Given the description of an element on the screen output the (x, y) to click on. 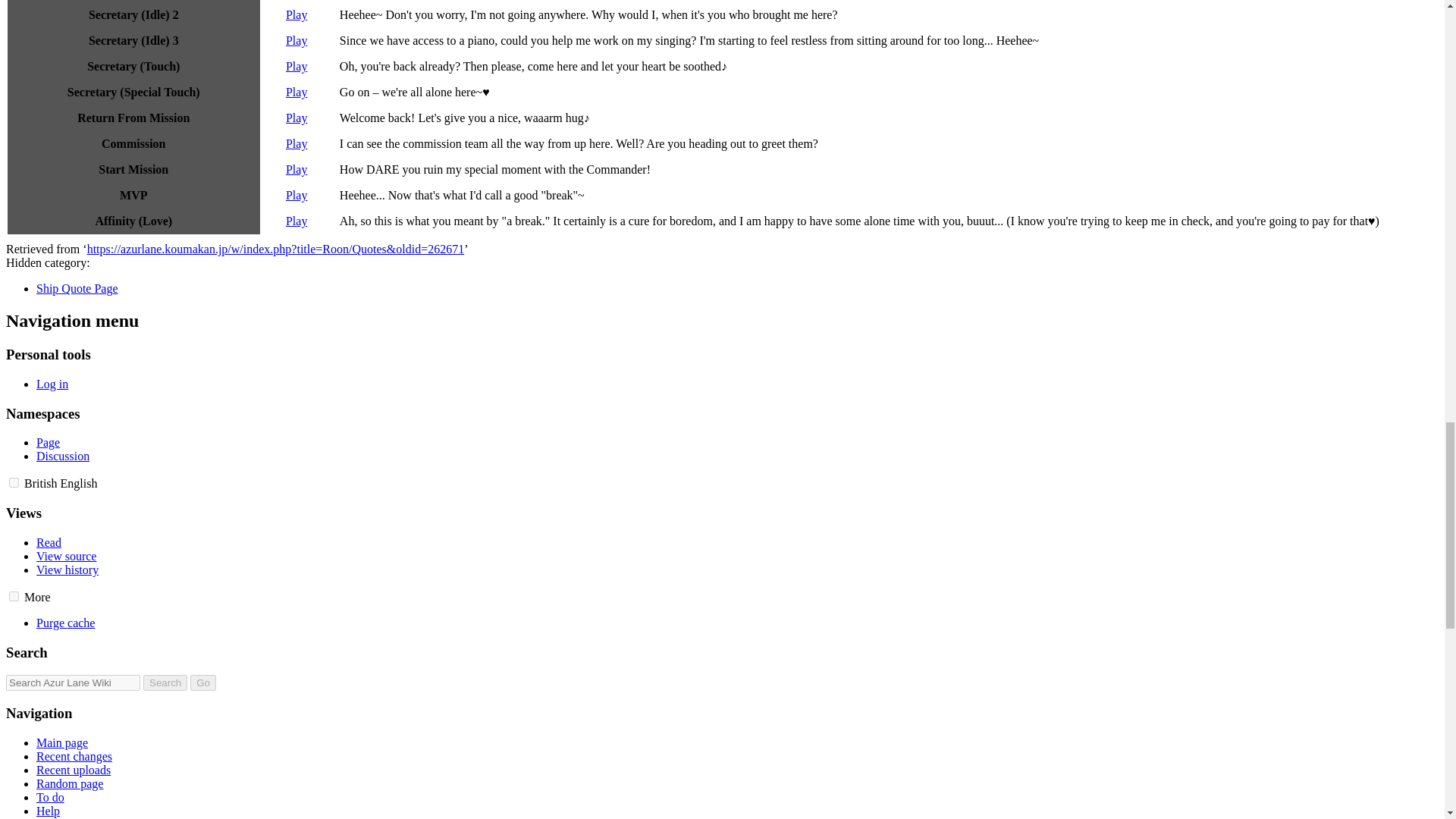
Search (164, 682)
Go (202, 682)
on (13, 482)
on (13, 596)
Search (164, 682)
Go (202, 682)
